Given the description of an element on the screen output the (x, y) to click on. 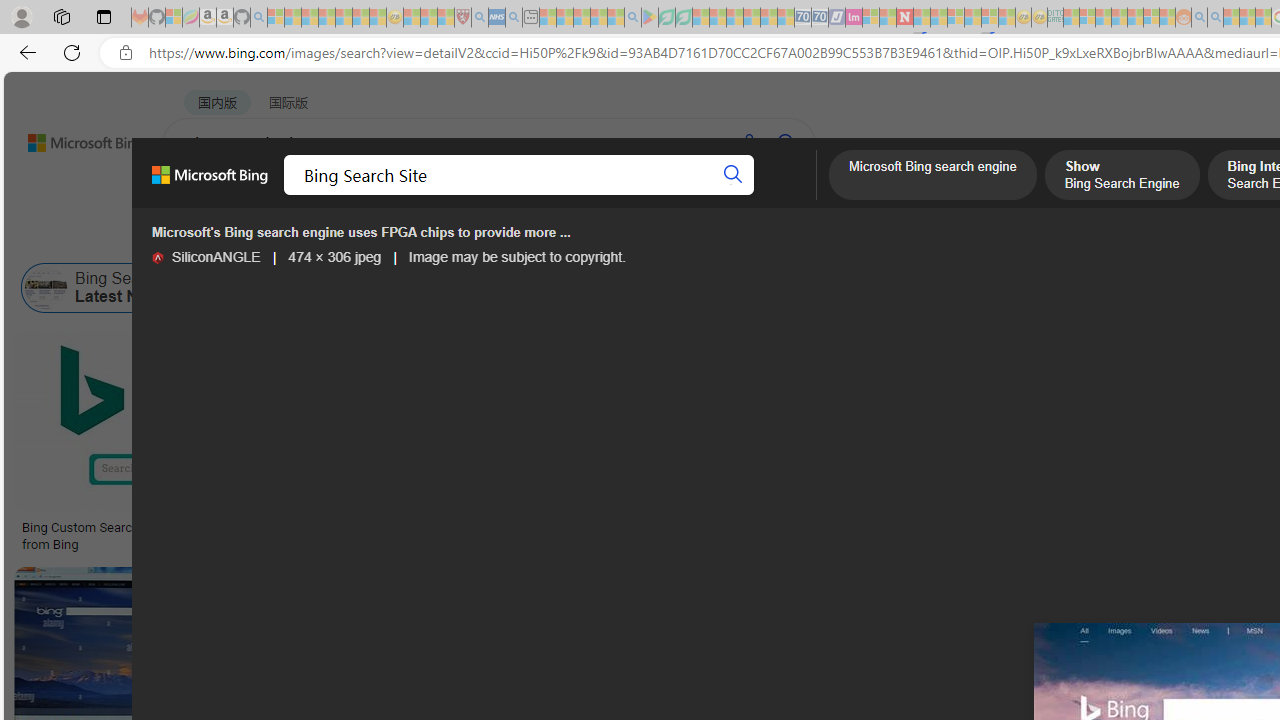
Class: item col (1081, 287)
Search button (732, 174)
Bing Advanced Search Tricks You Should KnowSave (813, 444)
Latest Politics News & Archive | Newsweek.com - Sleeping (904, 17)
Bing Home Screen (625, 287)
Bing Custom Search: A New Site Search Solution from BingSave (174, 444)
